Given the description of an element on the screen output the (x, y) to click on. 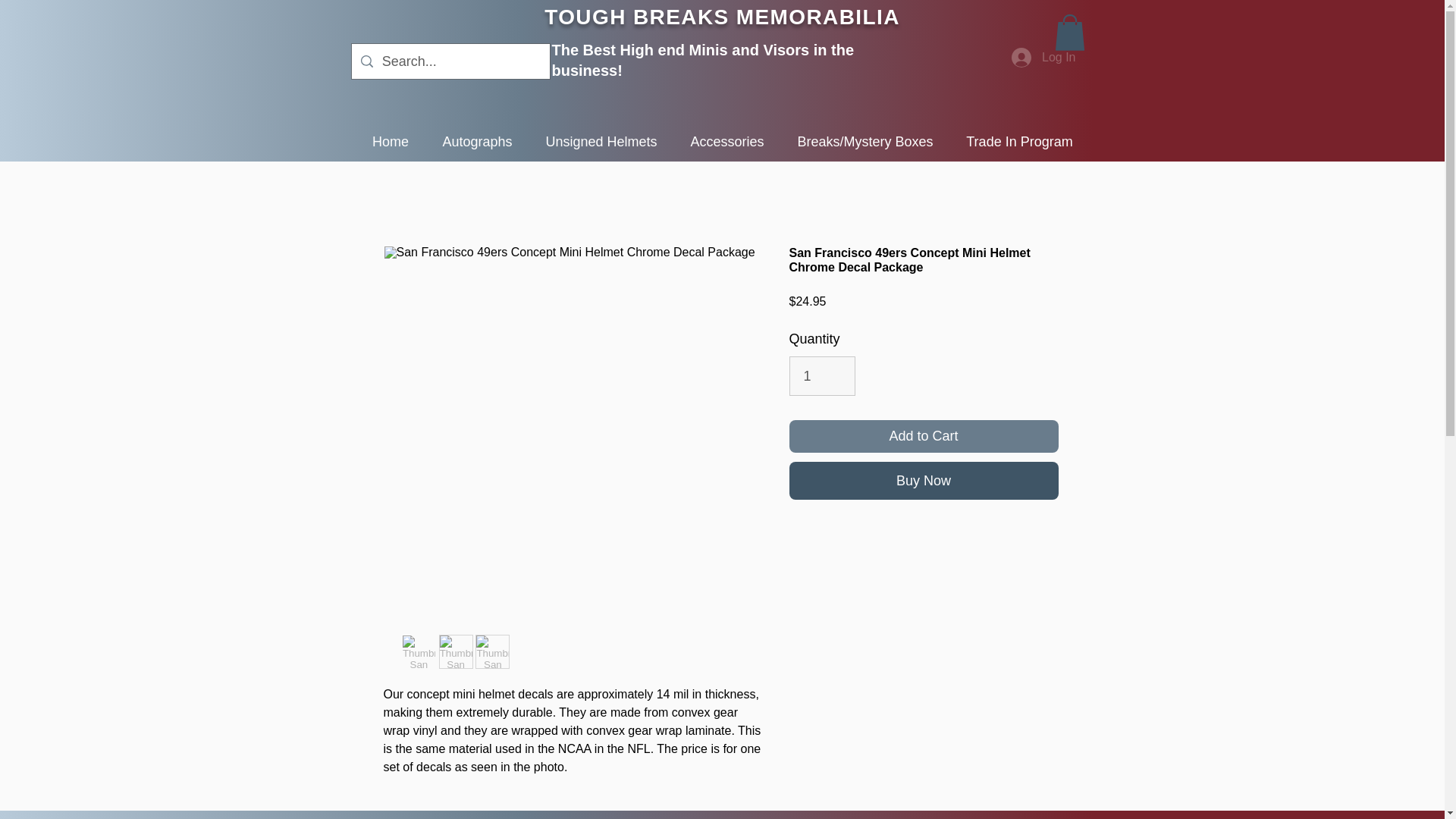
Unsigned Helmets (601, 141)
Add to Cart (923, 436)
Accessories (726, 141)
1 (821, 375)
TOUGH BREAKS MEMORABILIA (721, 16)
Trade In Program (1019, 141)
Log In (1043, 57)
Home (390, 141)
Buy Now (923, 480)
Autographs (477, 141)
